Given the description of an element on the screen output the (x, y) to click on. 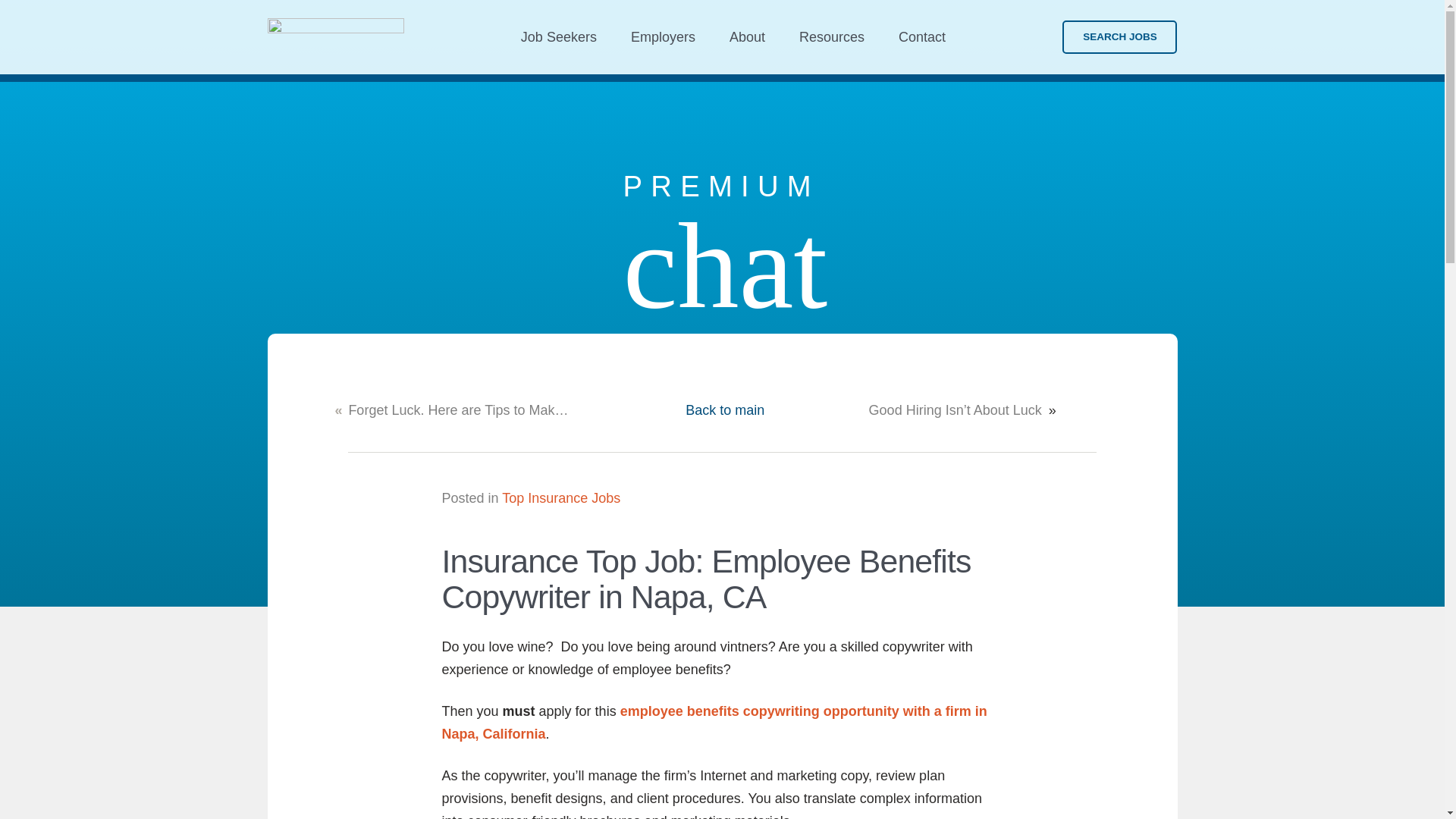
Resources (832, 36)
Forget Luck. Here are Tips to Make Sure You Get the Job (461, 409)
Employers (661, 36)
Click here to read the full job description. (714, 722)
SEARCH JOBS (1119, 36)
Top Insurance Jobs (561, 498)
Back to main (724, 409)
About (746, 36)
Contact (922, 36)
